Given the description of an element on the screen output the (x, y) to click on. 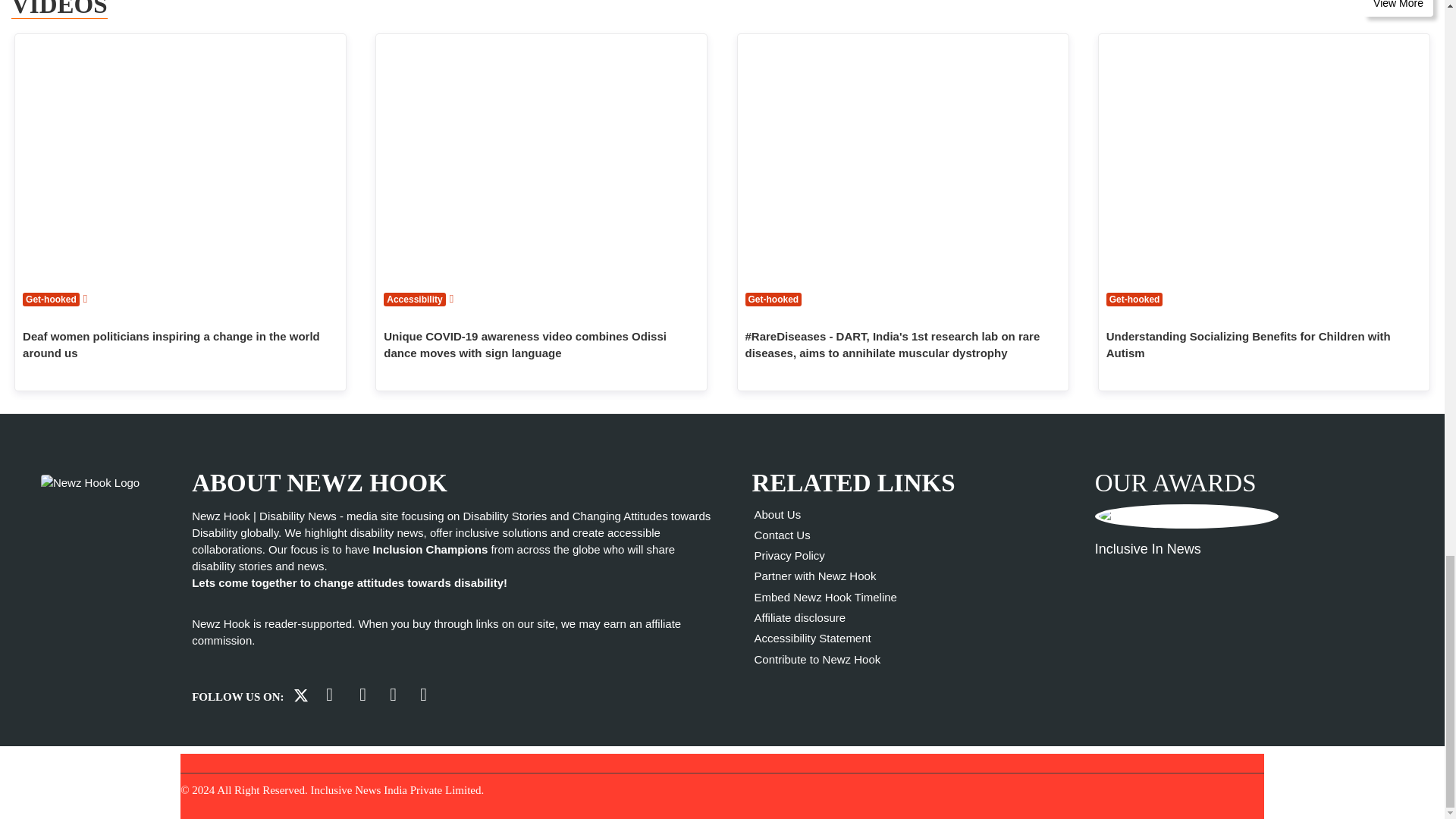
Understanding Socializing Benefits for Children with Autism (1264, 157)
Newz Hook on Youtube (362, 694)
Newz Hook on X (298, 696)
Newz Hook on Facebook (329, 694)
